Given the description of an element on the screen output the (x, y) to click on. 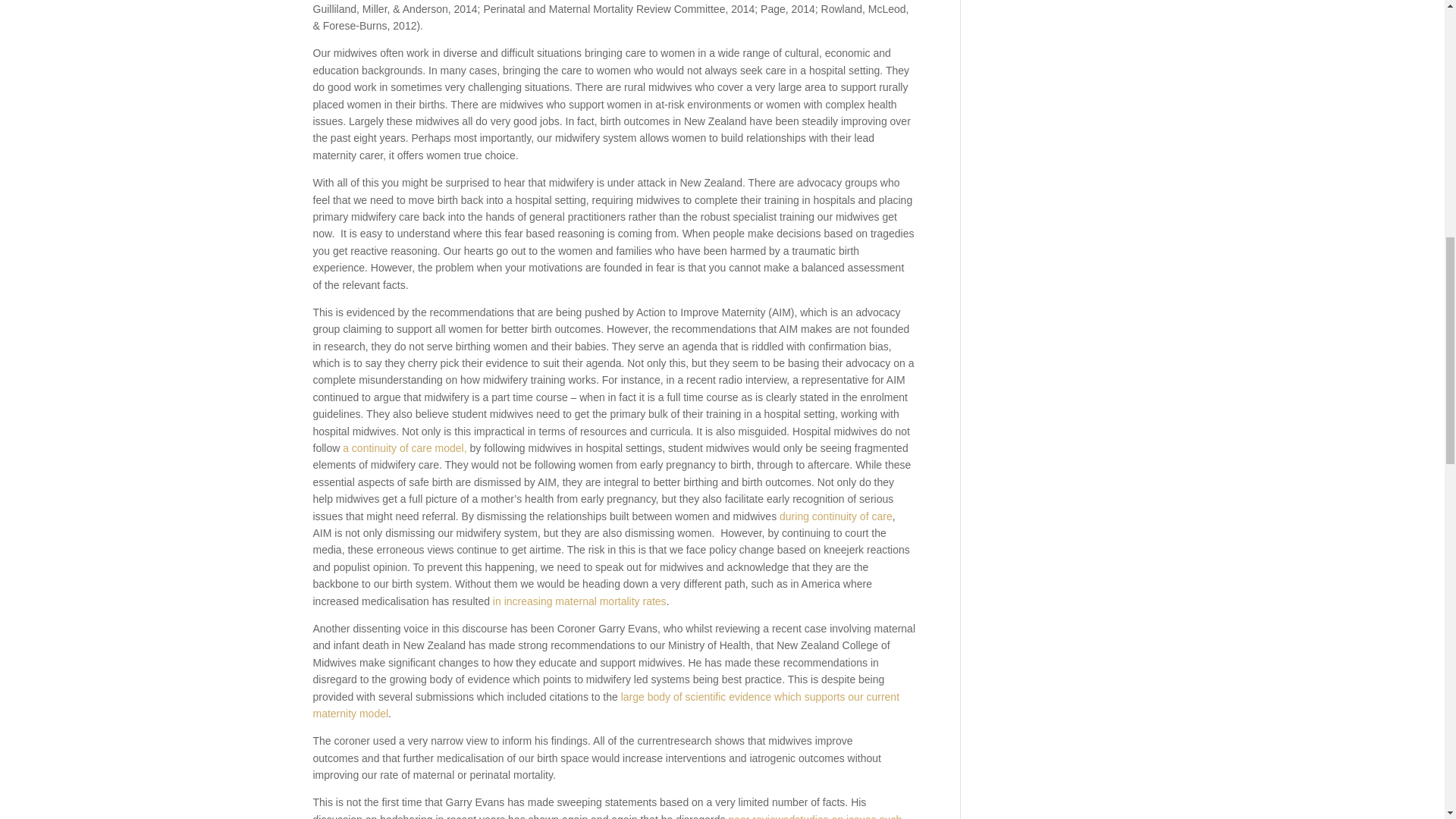
a continuity of care model, (403, 448)
in increasing maternal mortality rates (579, 601)
during continuity of care (835, 516)
